Given the description of an element on the screen output the (x, y) to click on. 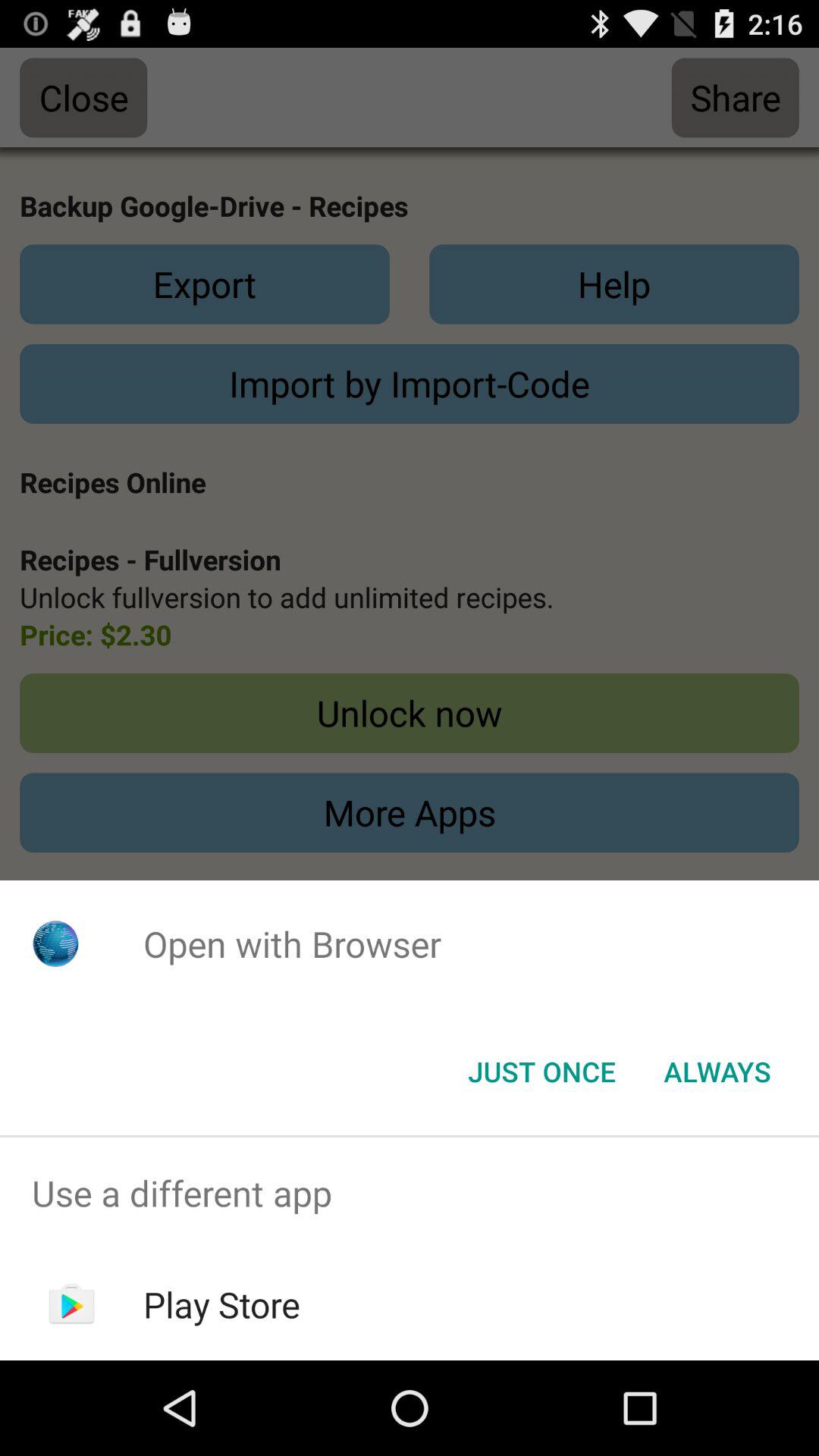
swipe until the always (717, 1071)
